Given the description of an element on the screen output the (x, y) to click on. 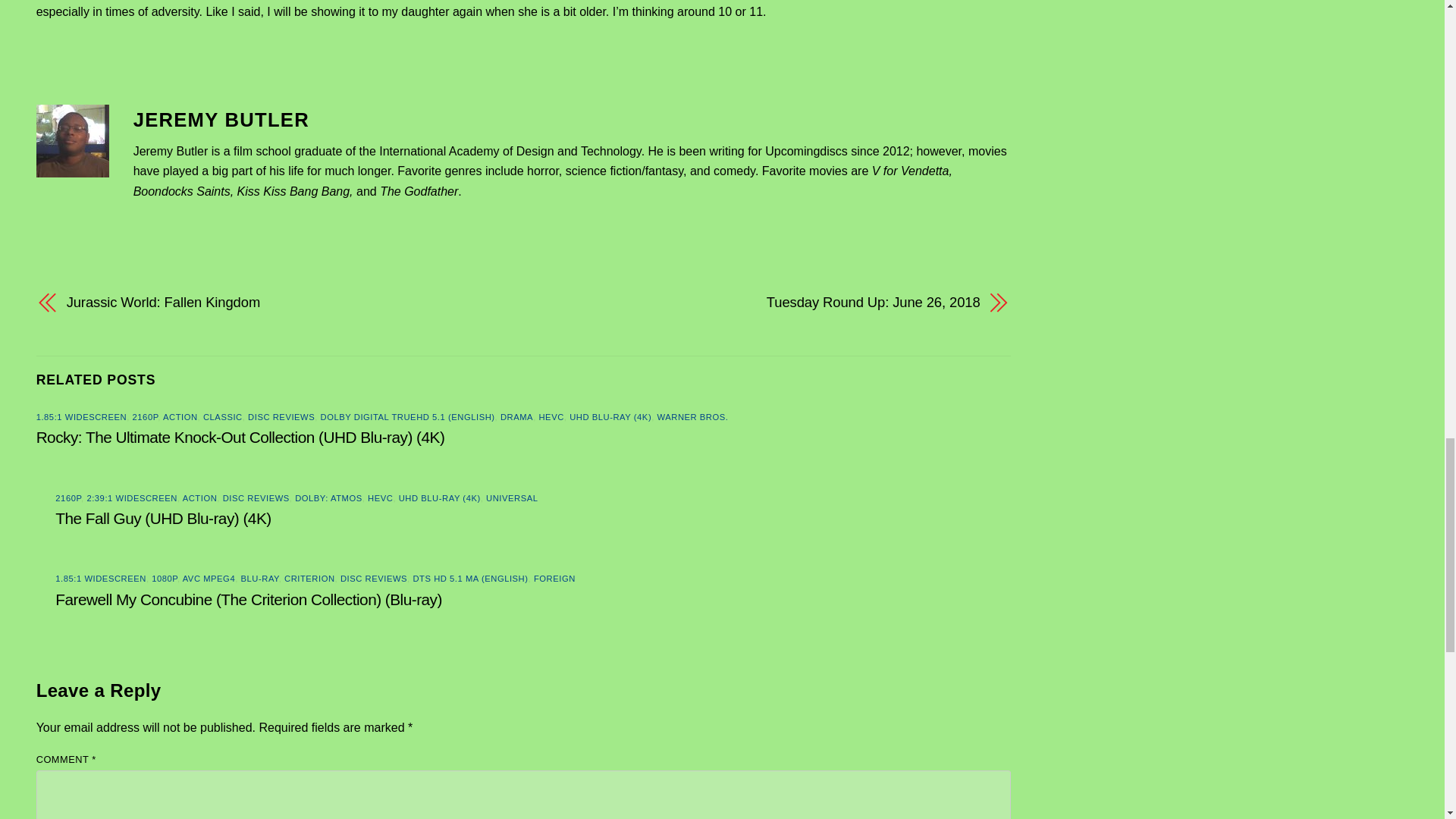
HEVC (550, 416)
DOLBY: ATMOS (328, 497)
2160P (145, 416)
WARNER BROS. (693, 416)
CLASSIC (223, 416)
1080P (164, 578)
Tuesday Round Up: June 26, 2018 (766, 302)
1.85:1 WIDESCREEN (101, 578)
DISC REVIEWS (280, 416)
DISC REVIEWS (255, 497)
